Given the description of an element on the screen output the (x, y) to click on. 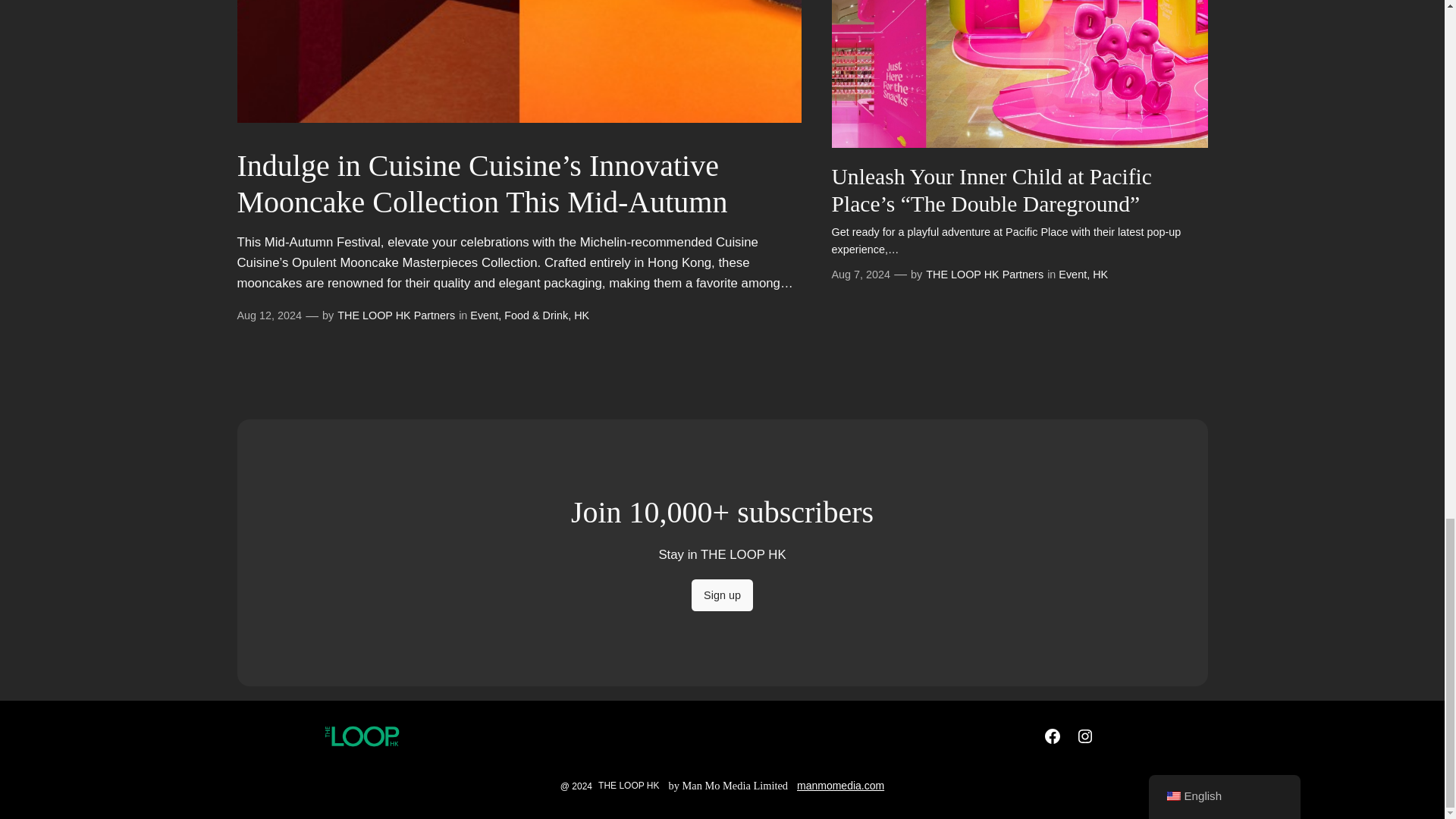
Event (1072, 274)
Facebook (1052, 736)
HK (1100, 274)
HK (581, 315)
Sign up (721, 594)
THE LOOP HK Partners (395, 315)
THE LOOP HK Partners (984, 274)
Aug 12, 2024 (268, 315)
Aug 7, 2024 (860, 274)
Event (483, 315)
